Given the description of an element on the screen output the (x, y) to click on. 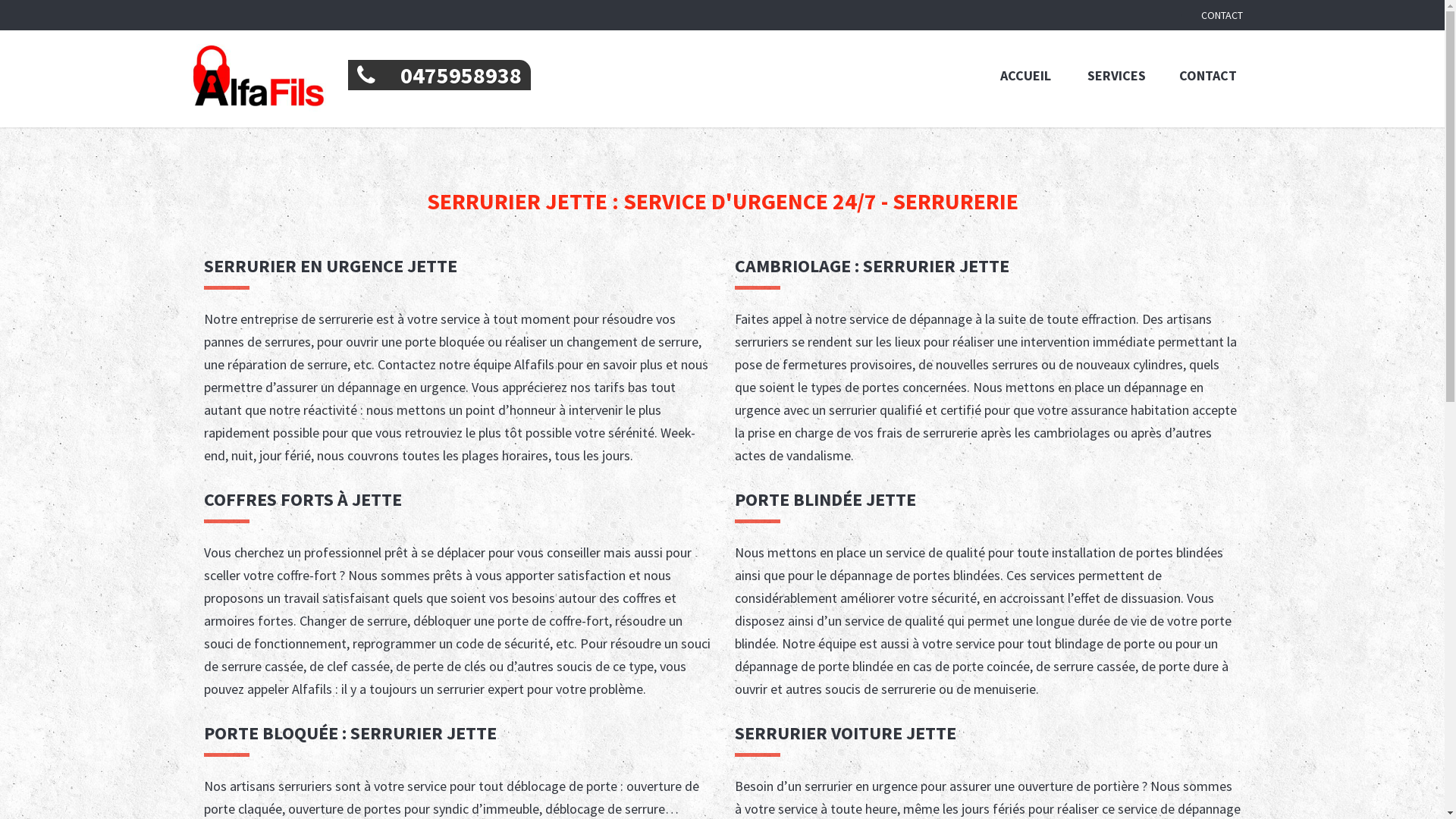
CONTACT Element type: text (1221, 15)
SERVICES Element type: text (1115, 75)
CONTACT Element type: text (1206, 75)
0475958938 Element type: text (438, 74)
ACCUEIL Element type: text (1024, 75)
